Given the description of an element on the screen output the (x, y) to click on. 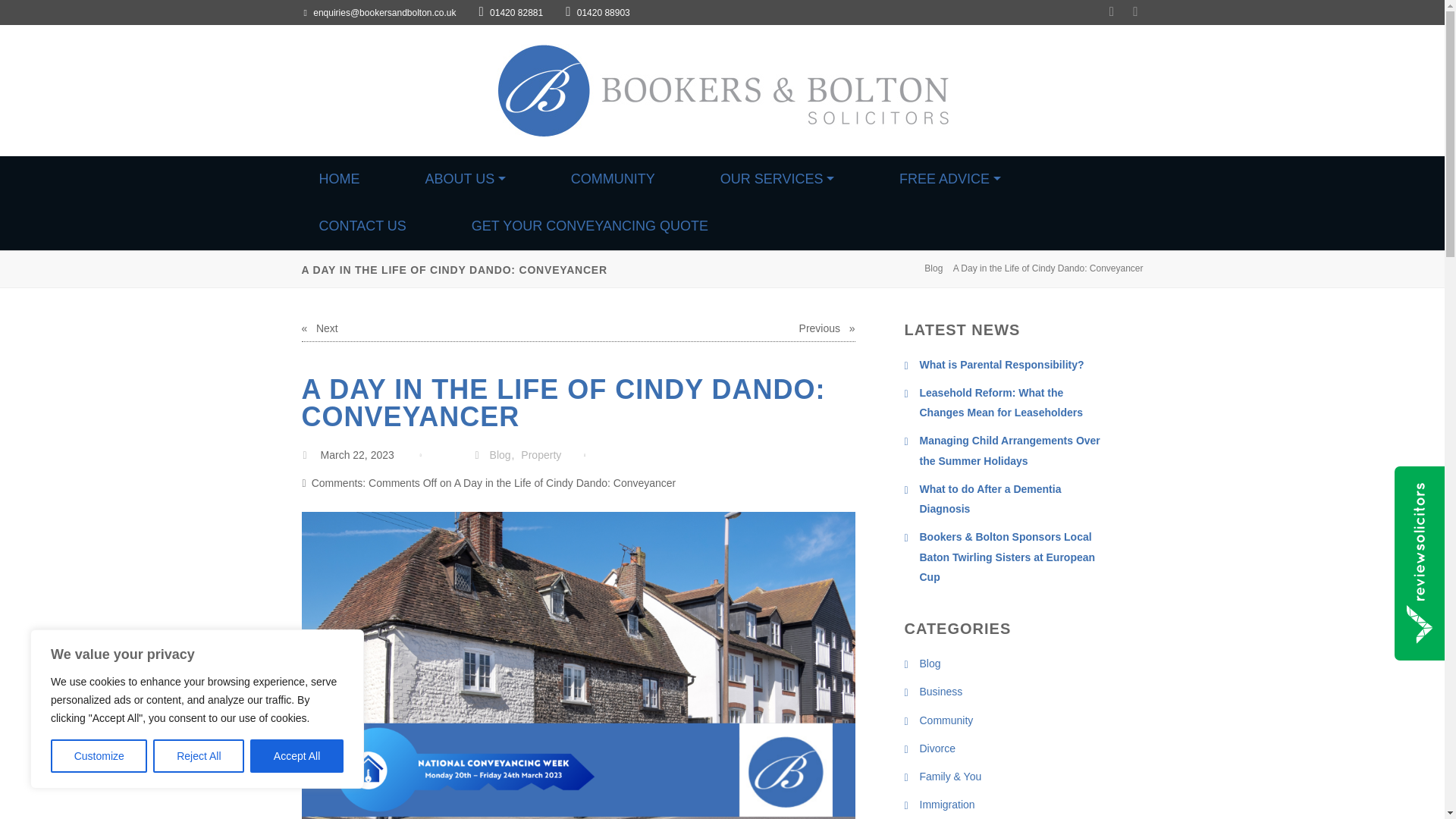
BOOKERS AND BOLTON SOLICITORS (218, 156)
01420 82881 (511, 12)
ABOUT US (464, 179)
Accept All (296, 756)
HOME (338, 179)
noclick (464, 179)
Reject All (198, 756)
COMMUNITY (612, 179)
OUR SERVICES (776, 179)
Customize (98, 756)
01420 88903 (598, 12)
Follow on Twitter (1120, 12)
Bookers and Bolton Solicitors (721, 90)
Follow on Facebook (1143, 12)
